Given the description of an element on the screen output the (x, y) to click on. 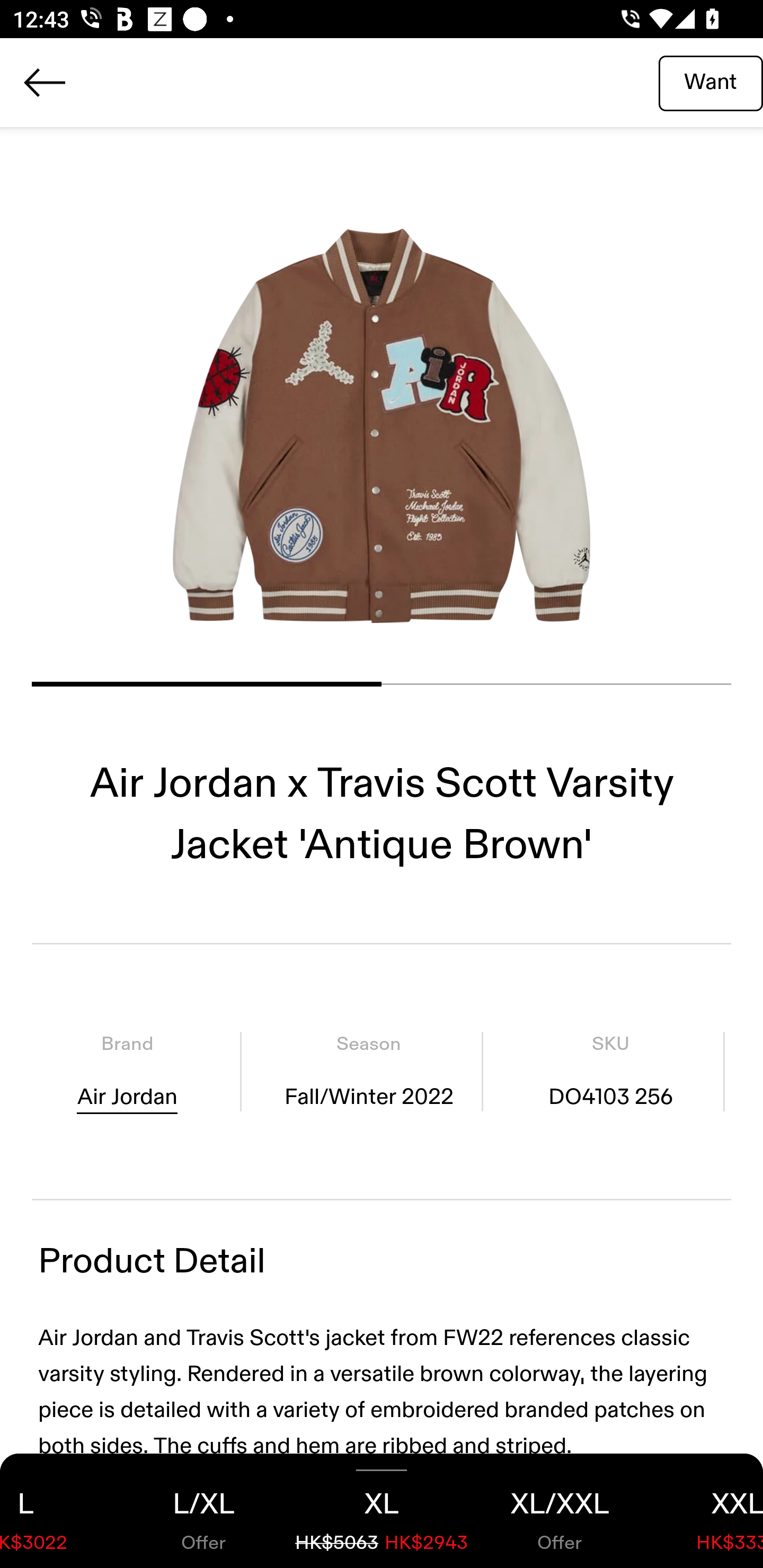
Want (710, 82)
Brand Air Jordan (126, 1070)
Season Fall/Winter 2022 (368, 1070)
SKU DO4103 256 (609, 1070)
L HK$3022 (57, 1510)
L/XL Offer (203, 1510)
XL HK$5063 HK$2943 (381, 1510)
XL/XXL Offer (559, 1510)
XXL HK$3339 (705, 1510)
